Given the description of an element on the screen output the (x, y) to click on. 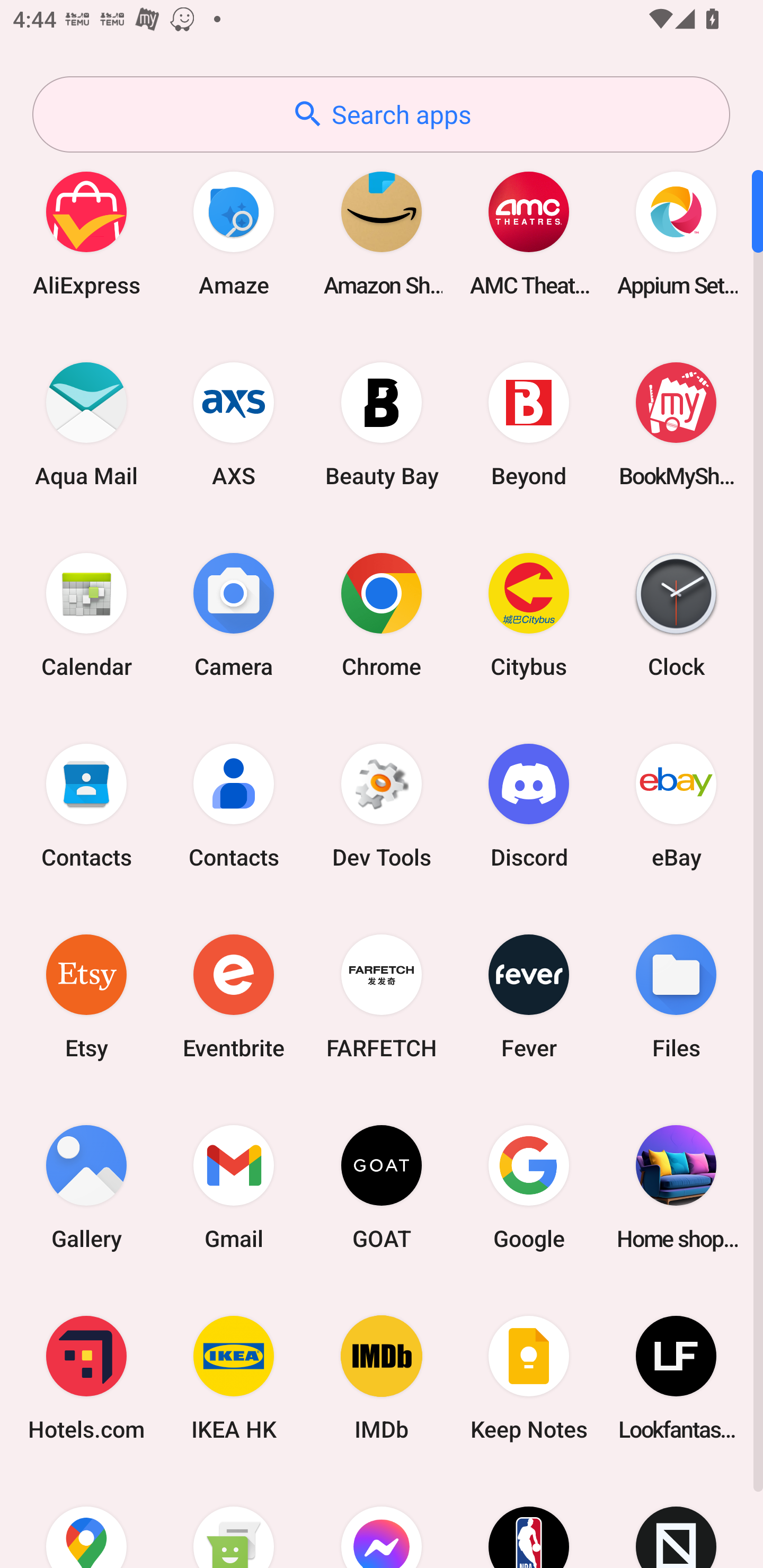
  Search apps (381, 114)
AliExpress (86, 233)
Amaze (233, 233)
Amazon Shopping (381, 233)
AMC Theatres (528, 233)
Appium Settings (676, 233)
Aqua Mail (86, 424)
AXS (233, 424)
Beauty Bay (381, 424)
Beyond (528, 424)
BookMyShow (676, 424)
Calendar (86, 614)
Camera (233, 614)
Chrome (381, 614)
Citybus (528, 614)
Clock (676, 614)
Contacts (86, 805)
Contacts (233, 805)
Dev Tools (381, 805)
Discord (528, 805)
eBay (676, 805)
Etsy (86, 996)
Eventbrite (233, 996)
FARFETCH (381, 996)
Fever (528, 996)
Files (676, 996)
Gallery (86, 1186)
Gmail (233, 1186)
GOAT (381, 1186)
Google (528, 1186)
Home shopping (676, 1186)
Hotels.com (86, 1377)
IKEA HK (233, 1377)
IMDb (381, 1377)
Keep Notes (528, 1377)
Lookfantastic (676, 1377)
Maps (86, 1520)
Messaging (233, 1520)
Messenger (381, 1520)
NBA (528, 1520)
Novelship (676, 1520)
